Given the description of an element on the screen output the (x, y) to click on. 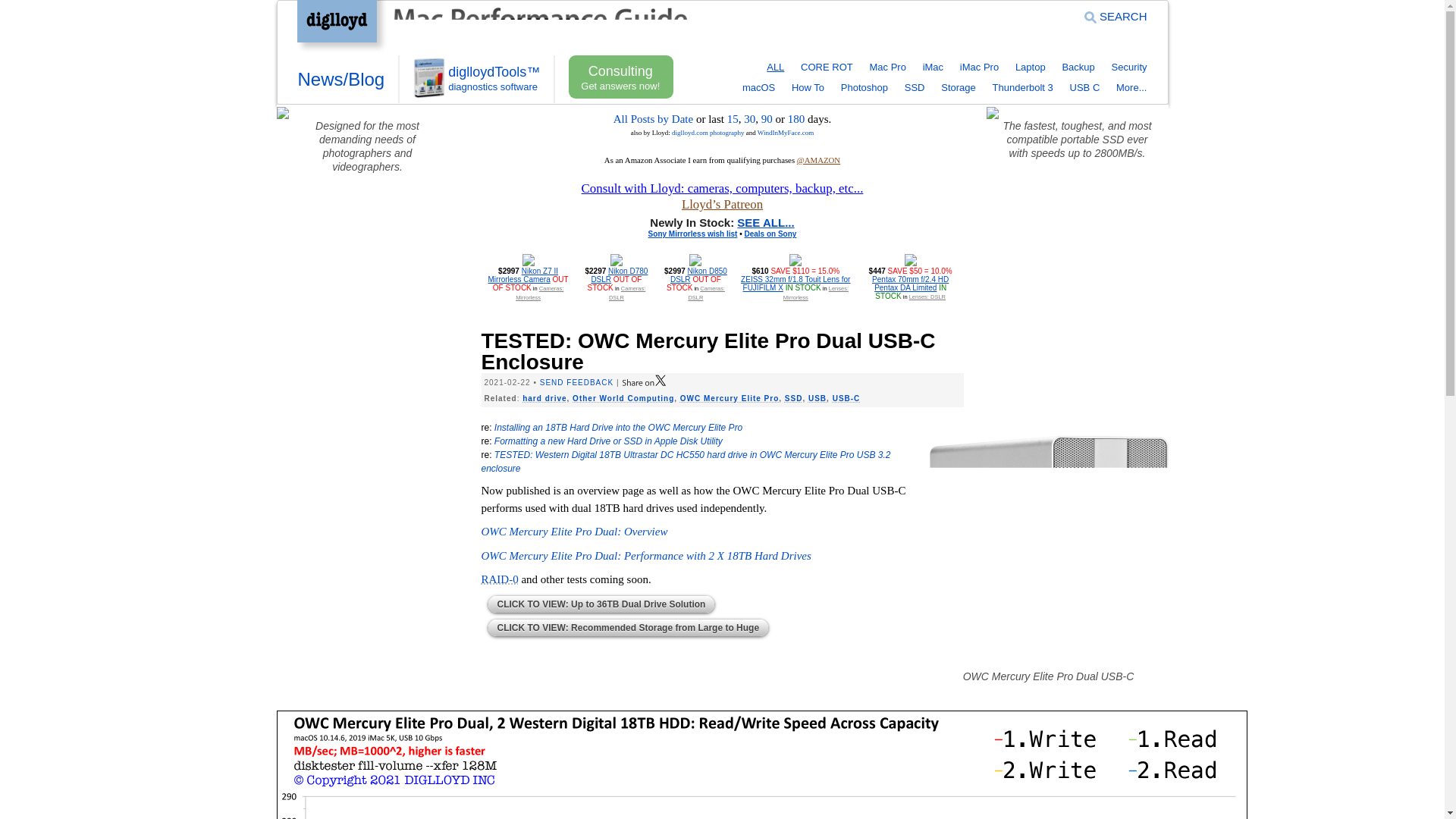
ALL (775, 66)
180 (796, 119)
macOS (758, 87)
Storage (957, 87)
SEARCH (1115, 15)
All Posts by Date (652, 119)
CORE ROT (826, 66)
Mac Pro (887, 66)
More... (1131, 87)
WindInMyFace.com (785, 132)
